Given the description of an element on the screen output the (x, y) to click on. 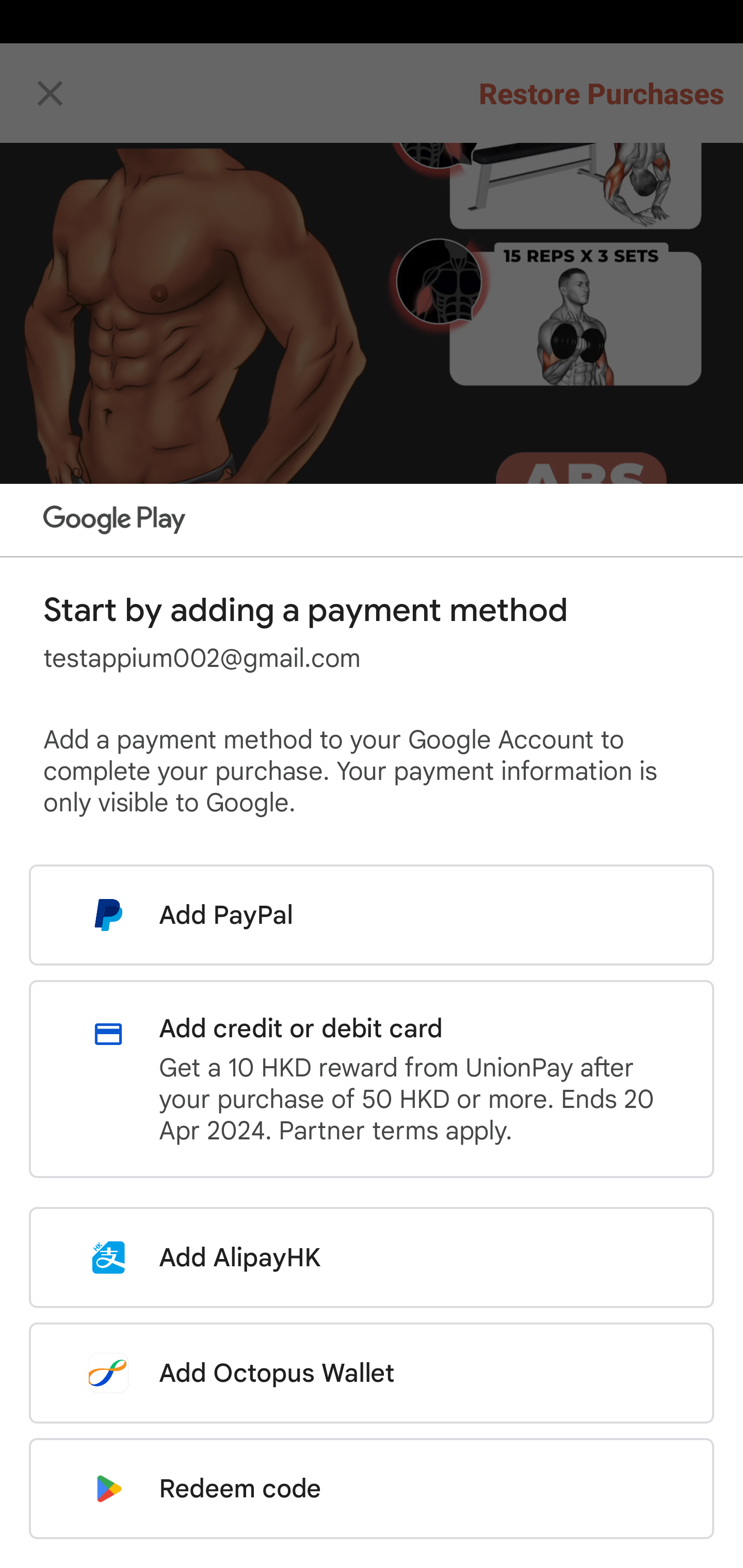
Add PayPal (371, 914)
Add AlipayHK (371, 1257)
Add Octopus Wallet (371, 1372)
Redeem code (371, 1488)
